Given the description of an element on the screen output the (x, y) to click on. 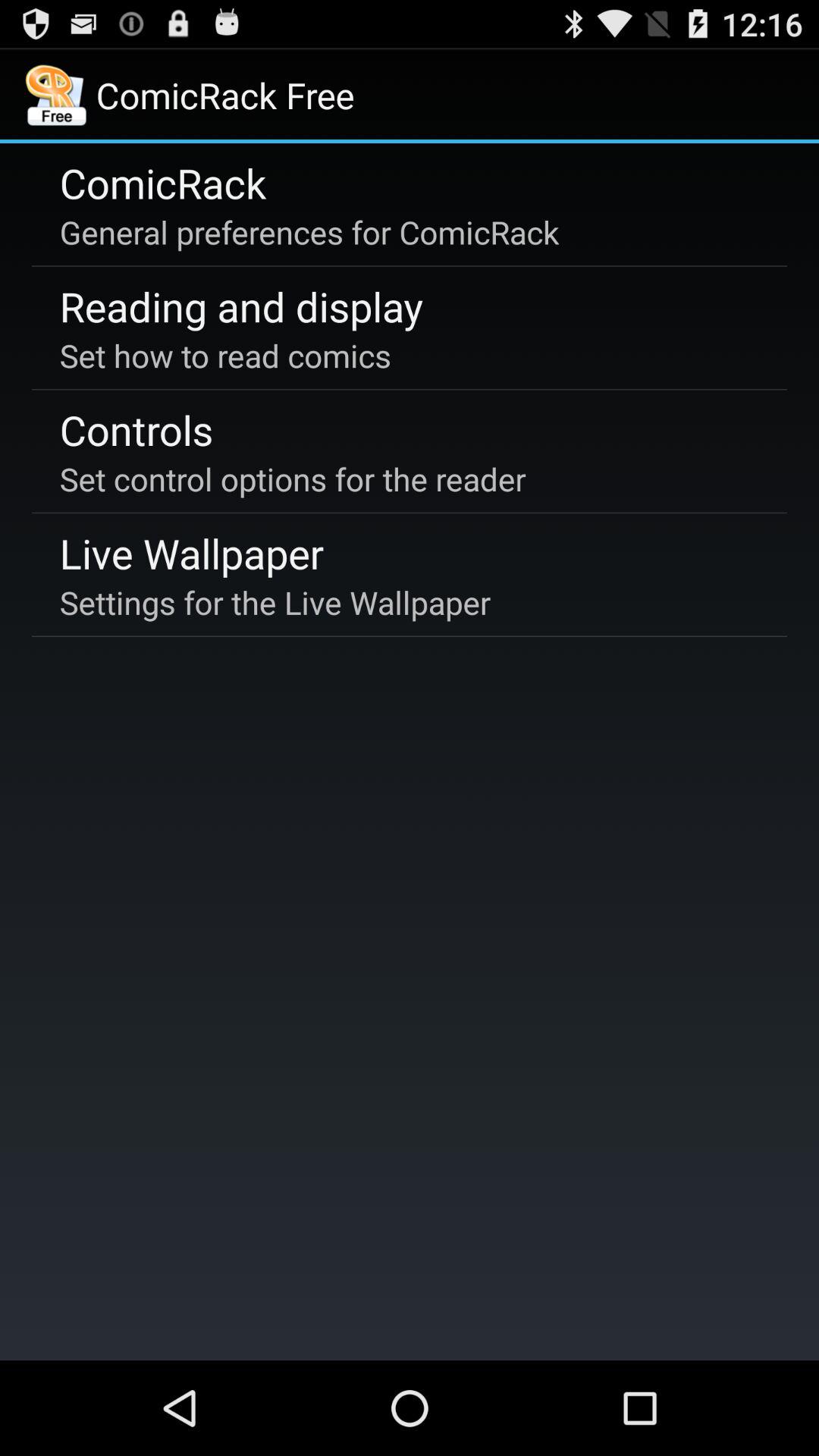
choose the controls item (136, 429)
